Given the description of an element on the screen output the (x, y) to click on. 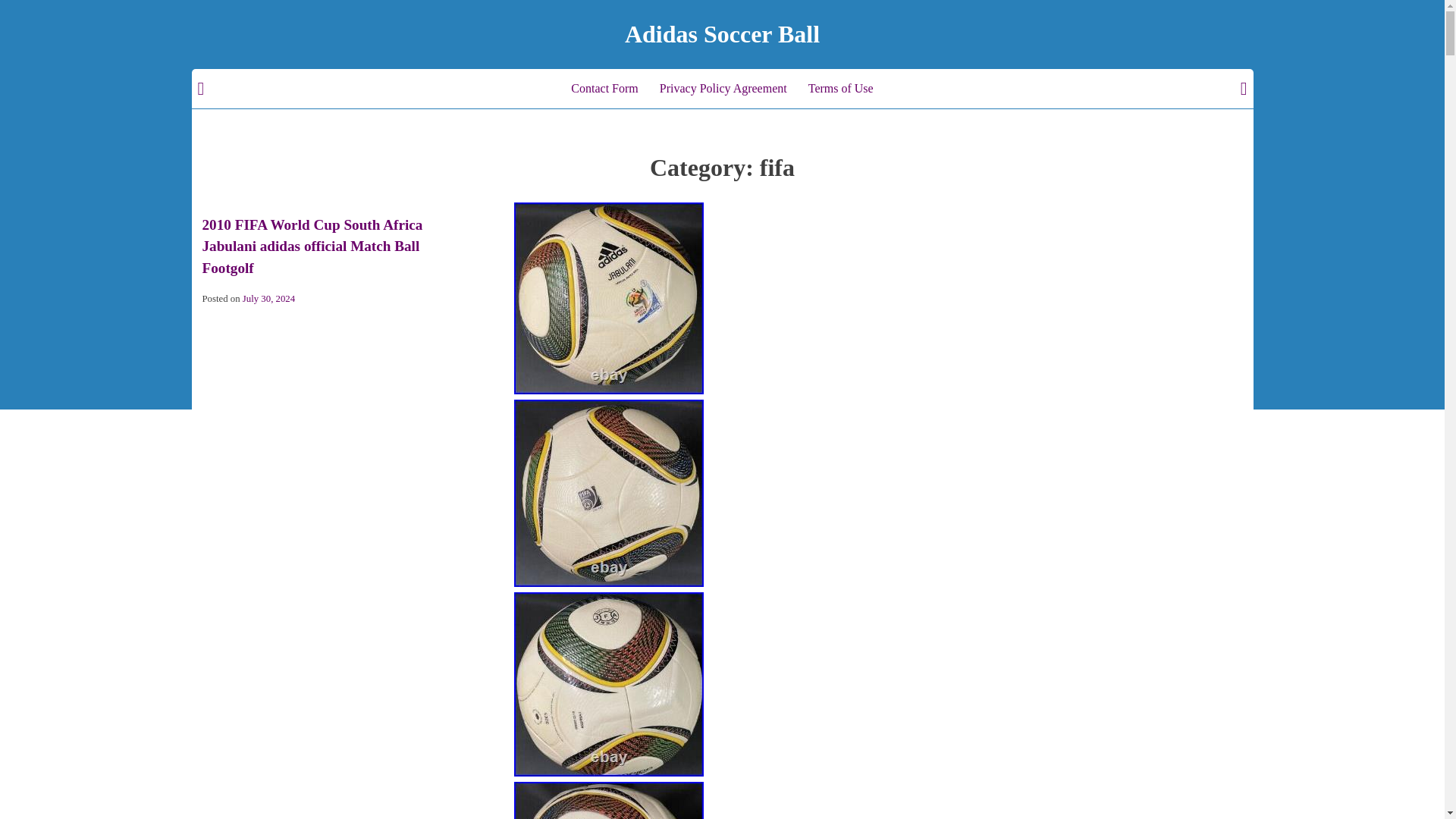
Contact Form (603, 88)
Adidas Soccer Ball (721, 33)
Terms of Use (840, 88)
Privacy Policy Agreement (723, 88)
July 30, 2024 (269, 298)
